Given the description of an element on the screen output the (x, y) to click on. 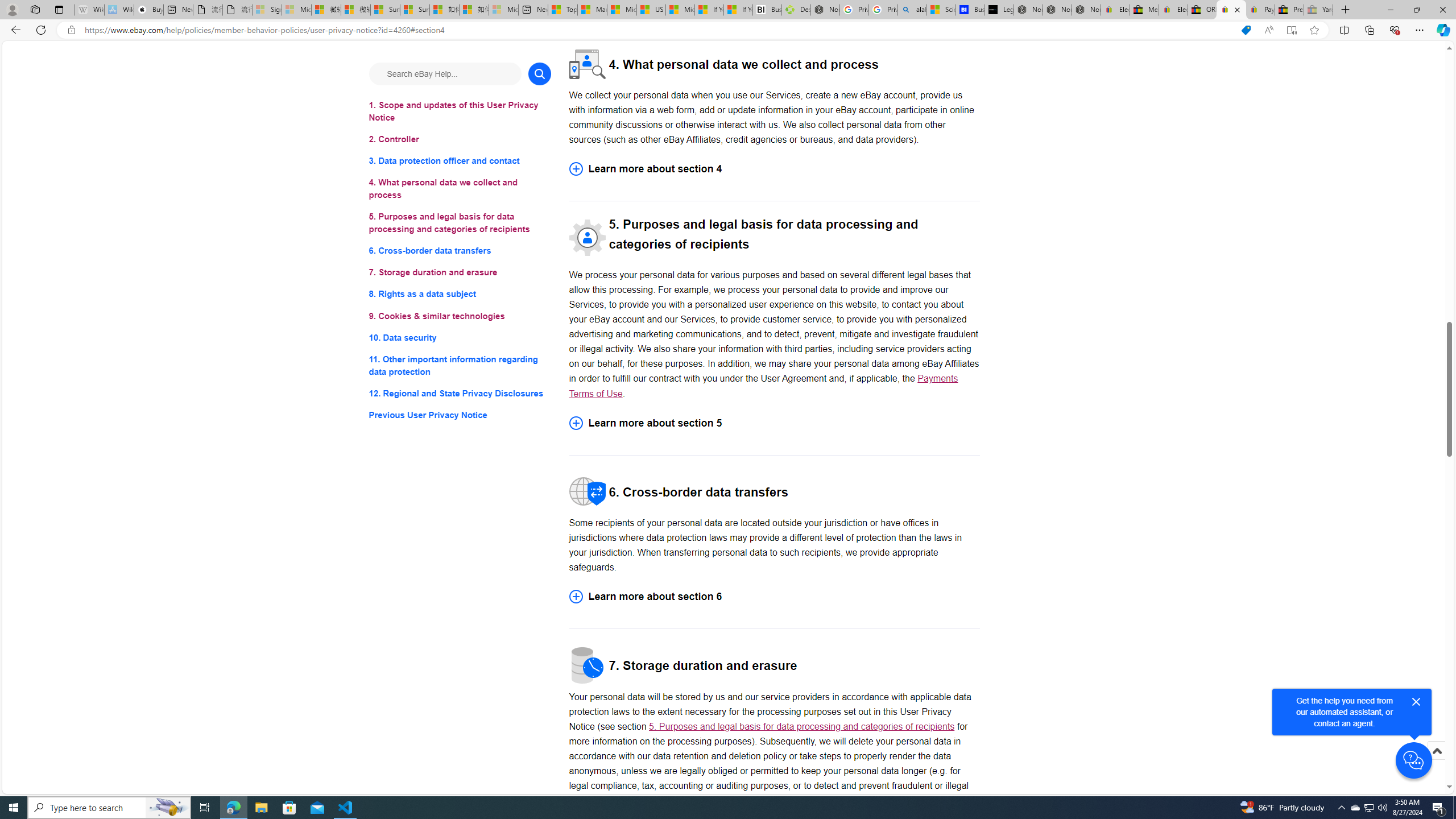
12. Regional and State Privacy Disclosures (459, 392)
3. Data protection officer and contact (459, 160)
3. Data protection officer and contact (459, 160)
9. Cookies & similar technologies (459, 315)
Learn more about section 4 (774, 169)
